Given the description of an element on the screen output the (x, y) to click on. 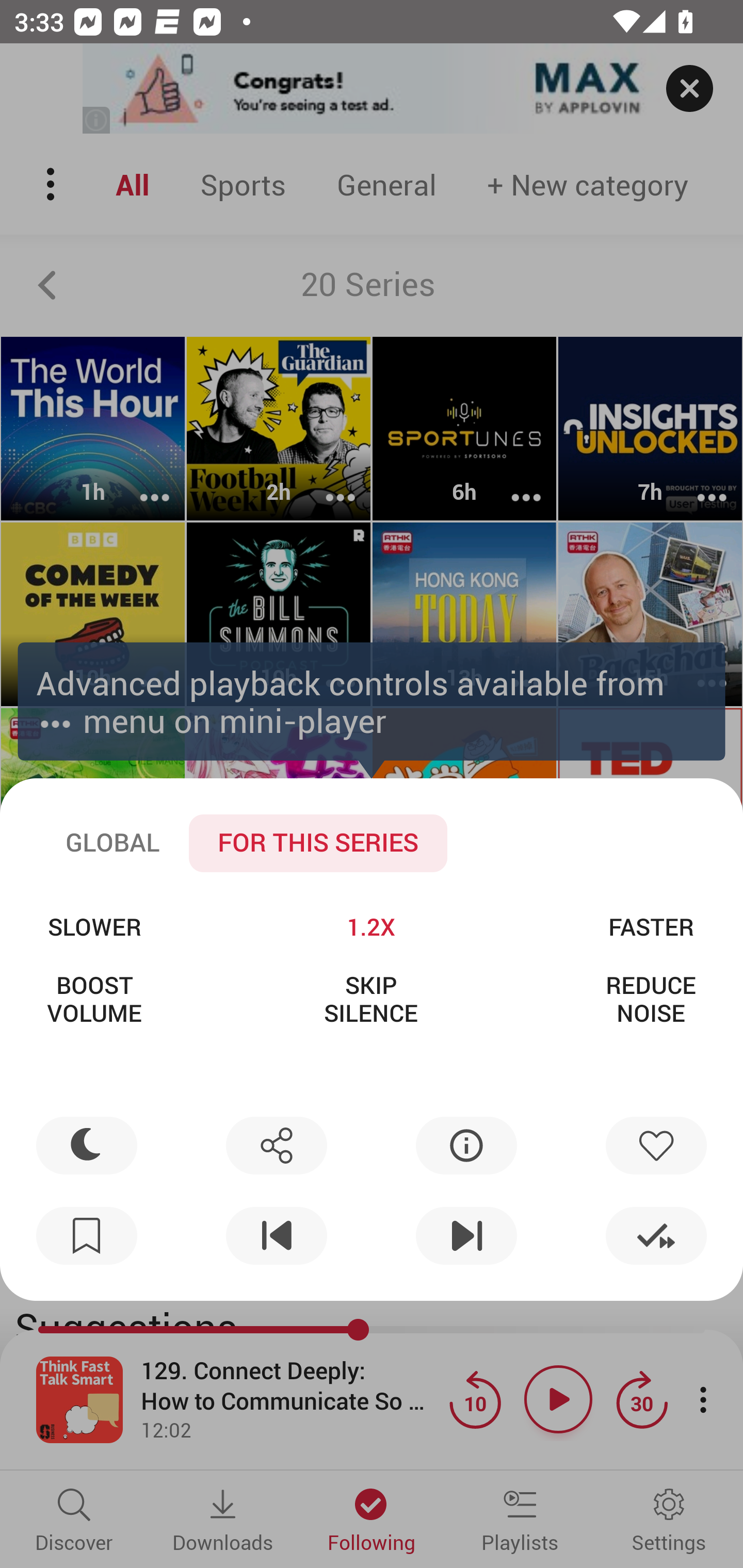
GLOBAL (112, 842)
FOR THIS SERIES (317, 842)
SLOWER (94, 926)
1.2X (370, 926)
FASTER (650, 926)
BOOST
VOLUME (94, 998)
SKIP
SILENCE (370, 998)
REDUCE
NOISE (650, 998)
Sleep timer (86, 1145)
Share (275, 1145)
Info (466, 1145)
Like (655, 1145)
New bookmark … (86, 1236)
Previous (275, 1236)
Next (466, 1236)
Mark played and next (655, 1236)
